Given the description of an element on the screen output the (x, y) to click on. 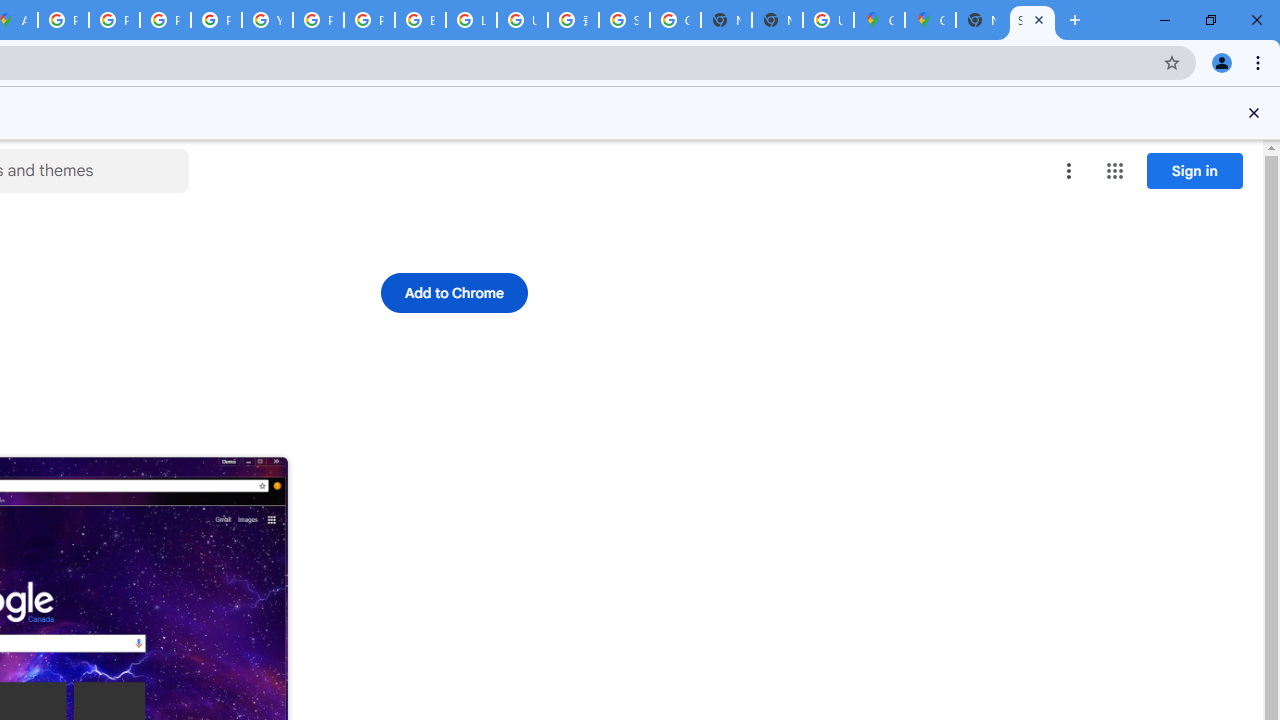
Minimize (1165, 20)
Google apps (1114, 170)
Google Maps (878, 20)
Space Nebula - Chrome Web Store (1032, 20)
Google Maps (930, 20)
YouTube (267, 20)
Policy Accountability and Transparency - Transparency Center (63, 20)
Privacy Help Center - Policies Help (164, 20)
New Tab (1075, 20)
Browse Chrome as a guest - Computer - Google Chrome Help (420, 20)
Bookmark this tab (1171, 62)
Restore (1210, 20)
Sign in (1194, 170)
Close (1254, 112)
